Given the description of an element on the screen output the (x, y) to click on. 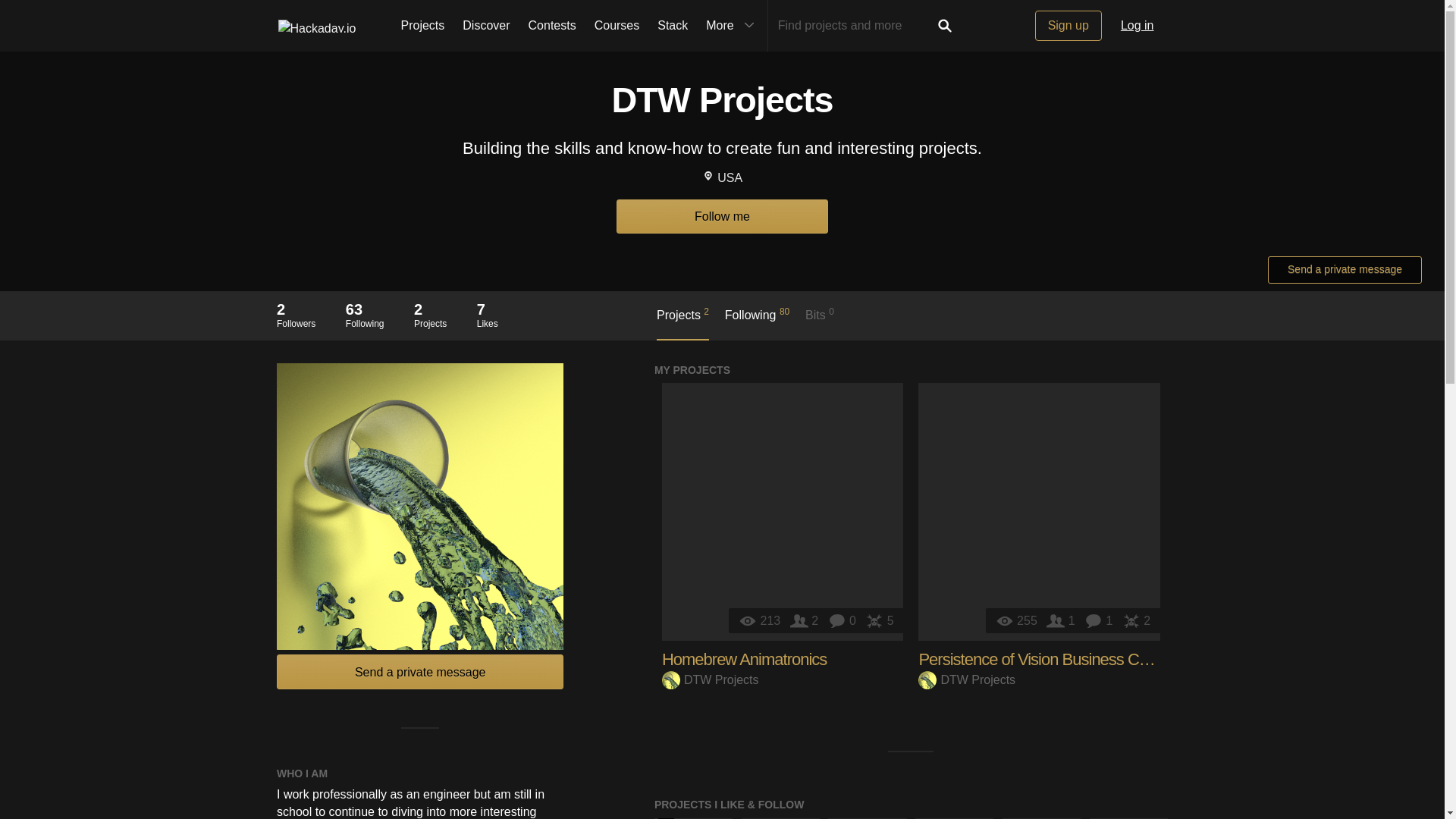
Homebrew Animatronics by DTW Projects (783, 511)
Log in (1137, 25)
Projects 2 (682, 322)
View Count (1018, 620)
Likes (1136, 620)
Discover (485, 25)
Two characters minimum (853, 25)
Sign up (1068, 25)
Comments (1100, 620)
Courses (617, 25)
